Given the description of an element on the screen output the (x, y) to click on. 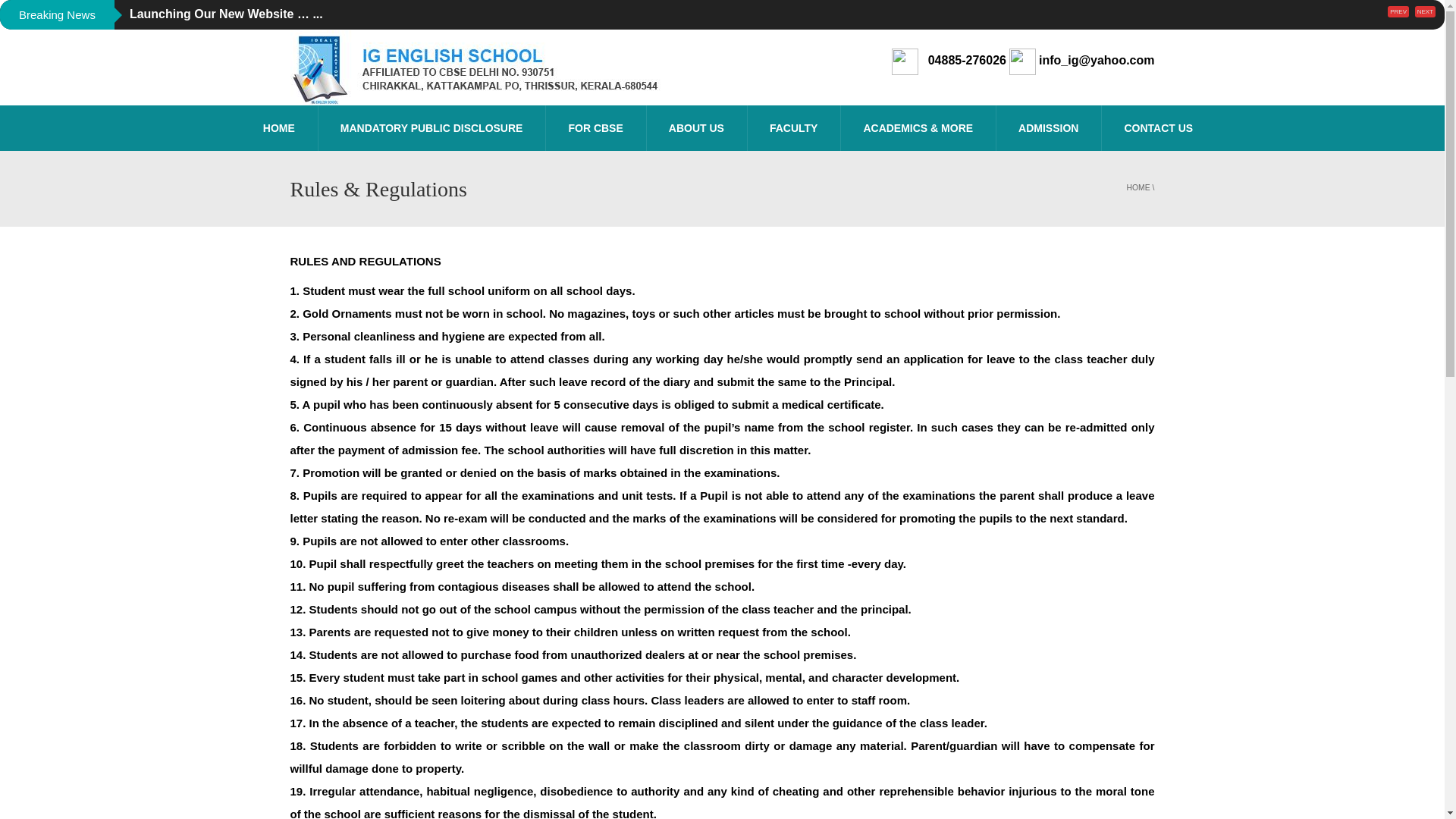
MANDATORY PUBLIC DISCLOSURE (431, 127)
ABOUT US (696, 127)
FOR CBSE (594, 127)
HOME (278, 127)
FACULTY (793, 127)
